Given the description of an element on the screen output the (x, y) to click on. 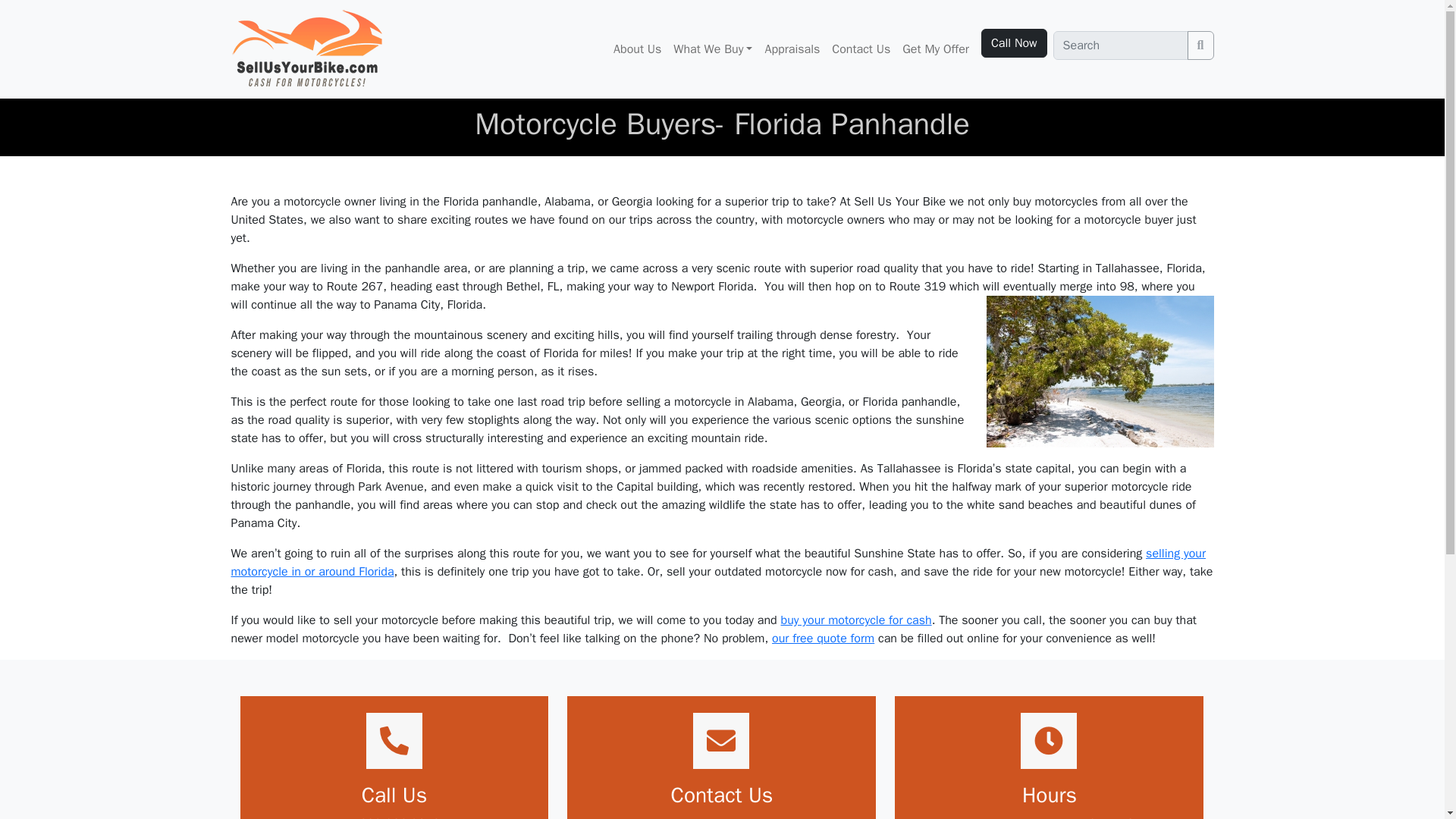
Call Now (1013, 42)
Get My Offer (935, 49)
Contact Us (860, 49)
What We Buy (712, 49)
Free Online Quote Form (823, 638)
Sell a Motorcycle in Florida (717, 562)
About Us (636, 49)
Cash For Motorcycles (855, 620)
Reach out now! (721, 817)
our free quote form (823, 638)
1.800.963.9216 (394, 817)
Search (1201, 45)
buy your motorcycle for cash (855, 620)
Appraisals (791, 49)
selling your motorcycle in or around Florida (717, 562)
